Given the description of an element on the screen output the (x, y) to click on. 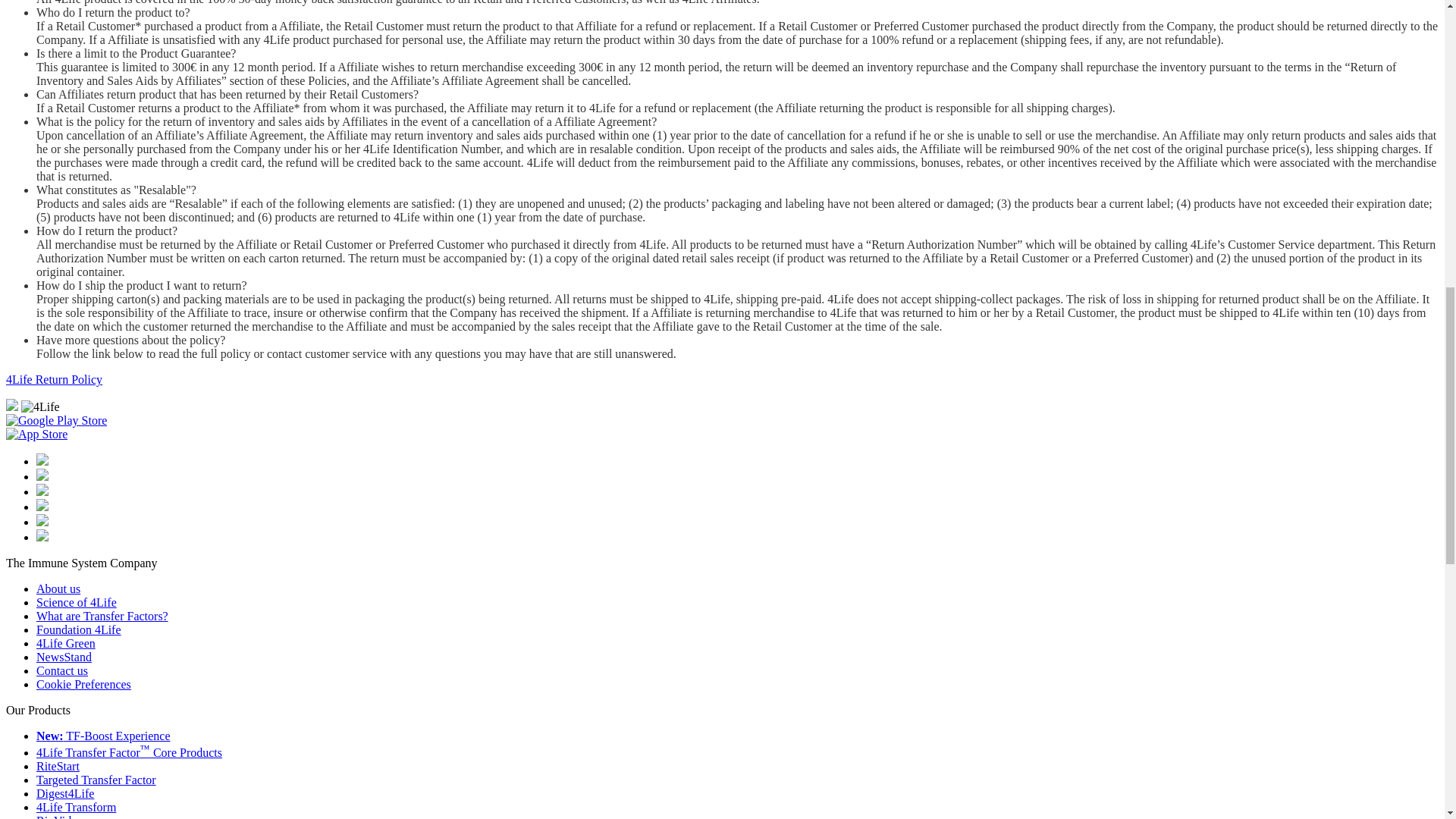
NewsStand (63, 656)
Contact us (61, 670)
Digest4Life (65, 793)
Foundation 4Life (78, 629)
Cookie Preferences (83, 684)
Targeted Transfer Factor (95, 779)
About us (58, 588)
Science of 4Life (76, 602)
4Life Green (66, 643)
The Immune System Company (81, 562)
New: TF-Boost Experience (103, 735)
What are Transfer Factors? (102, 615)
RiteStart (58, 766)
Our Products (37, 709)
4Life Return Policy (53, 379)
